Given the description of an element on the screen output the (x, y) to click on. 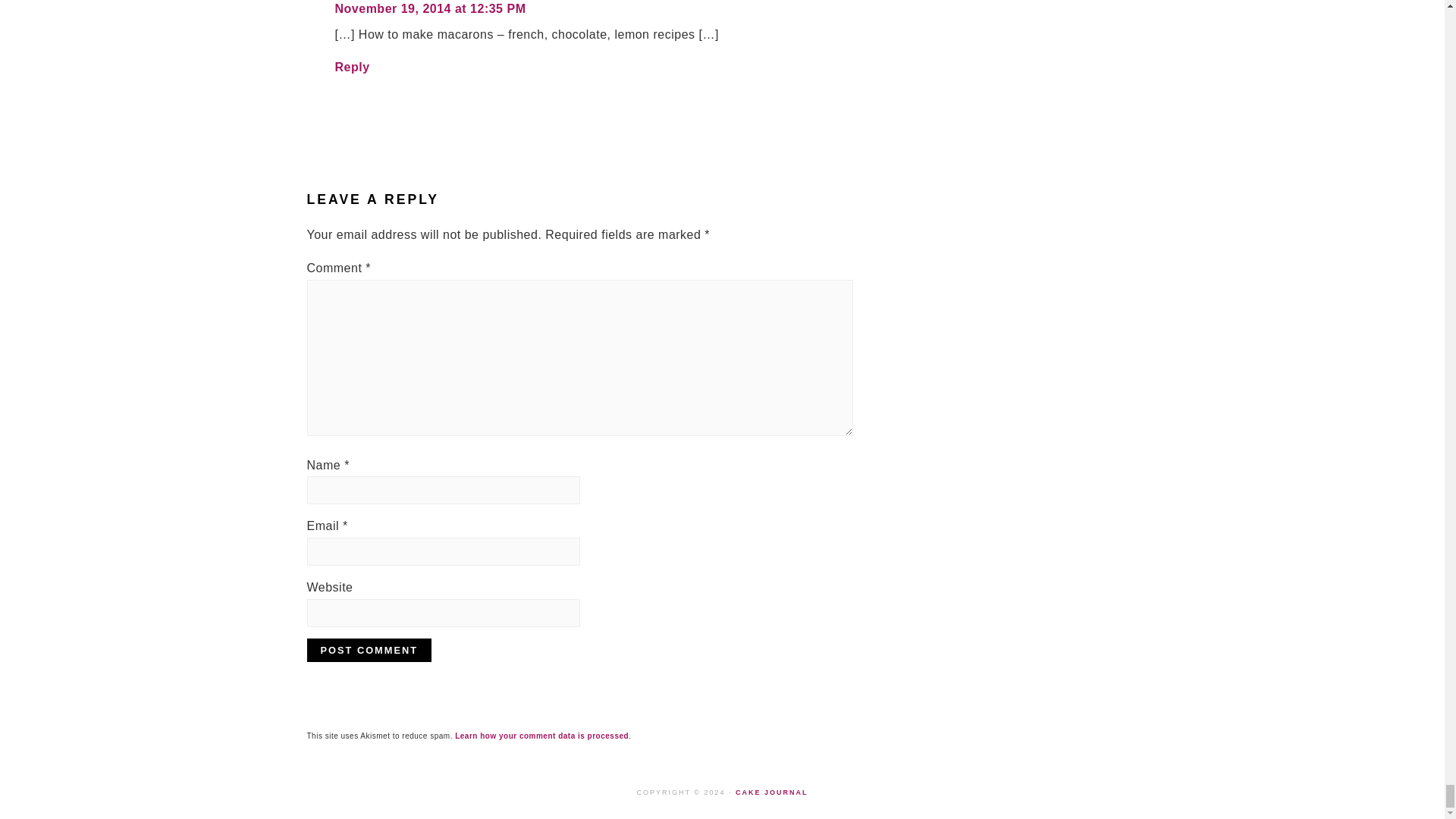
Post Comment (367, 649)
